Given the description of an element on the screen output the (x, y) to click on. 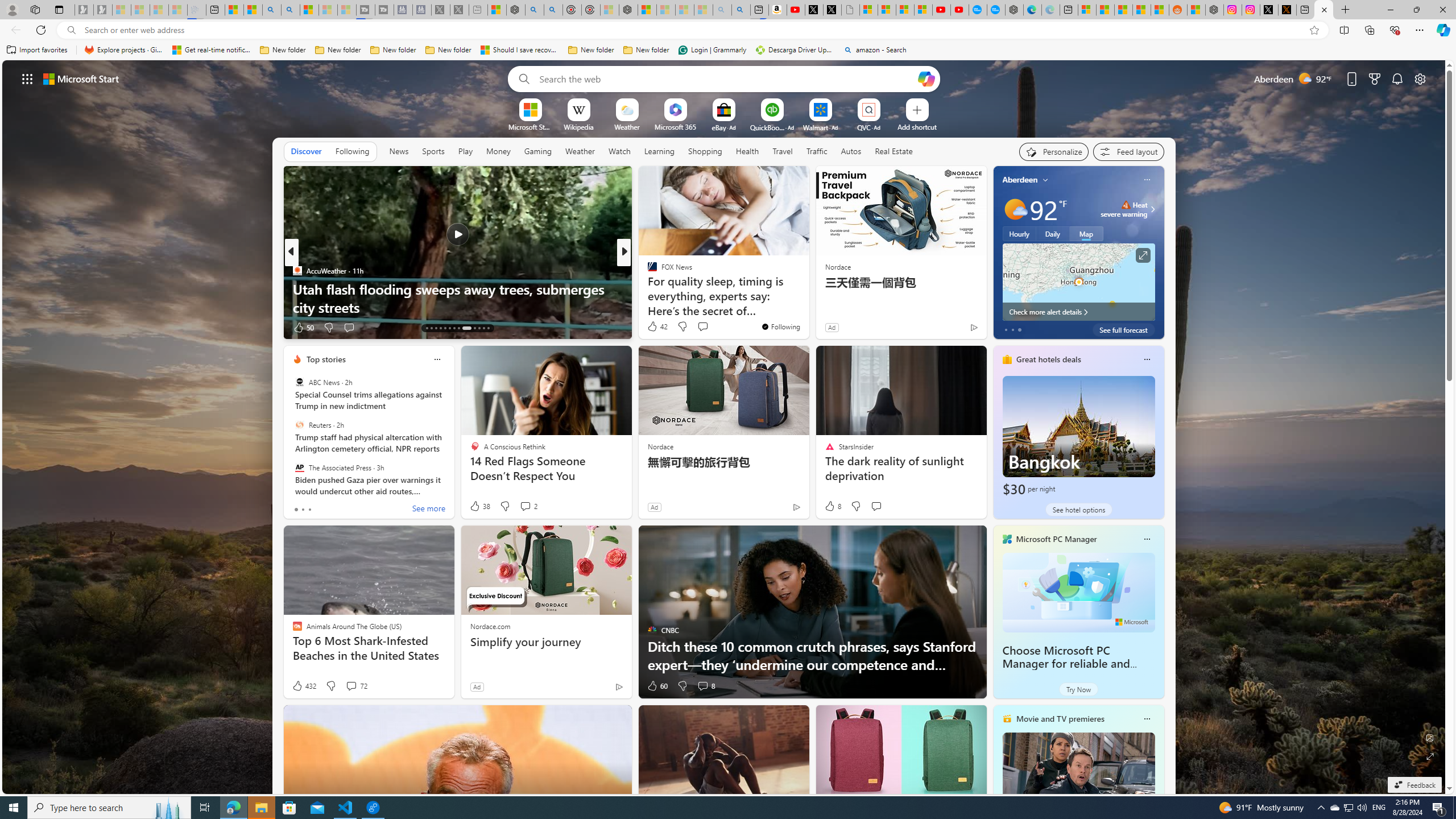
Should I save recovered Word documents? - Microsoft Support (519, 49)
AutomationID: waffle (27, 78)
Work + Money (647, 288)
View comments 4 Comment (698, 327)
492 Like (654, 327)
Daily (1052, 233)
See hotel options (1078, 509)
Microsoft PC Manager (1056, 538)
View comments 124 Comment (709, 327)
Weather (579, 151)
Nordace - Nordace Siena Is Not An Ordinary Backpack (628, 9)
